Given the description of an element on the screen output the (x, y) to click on. 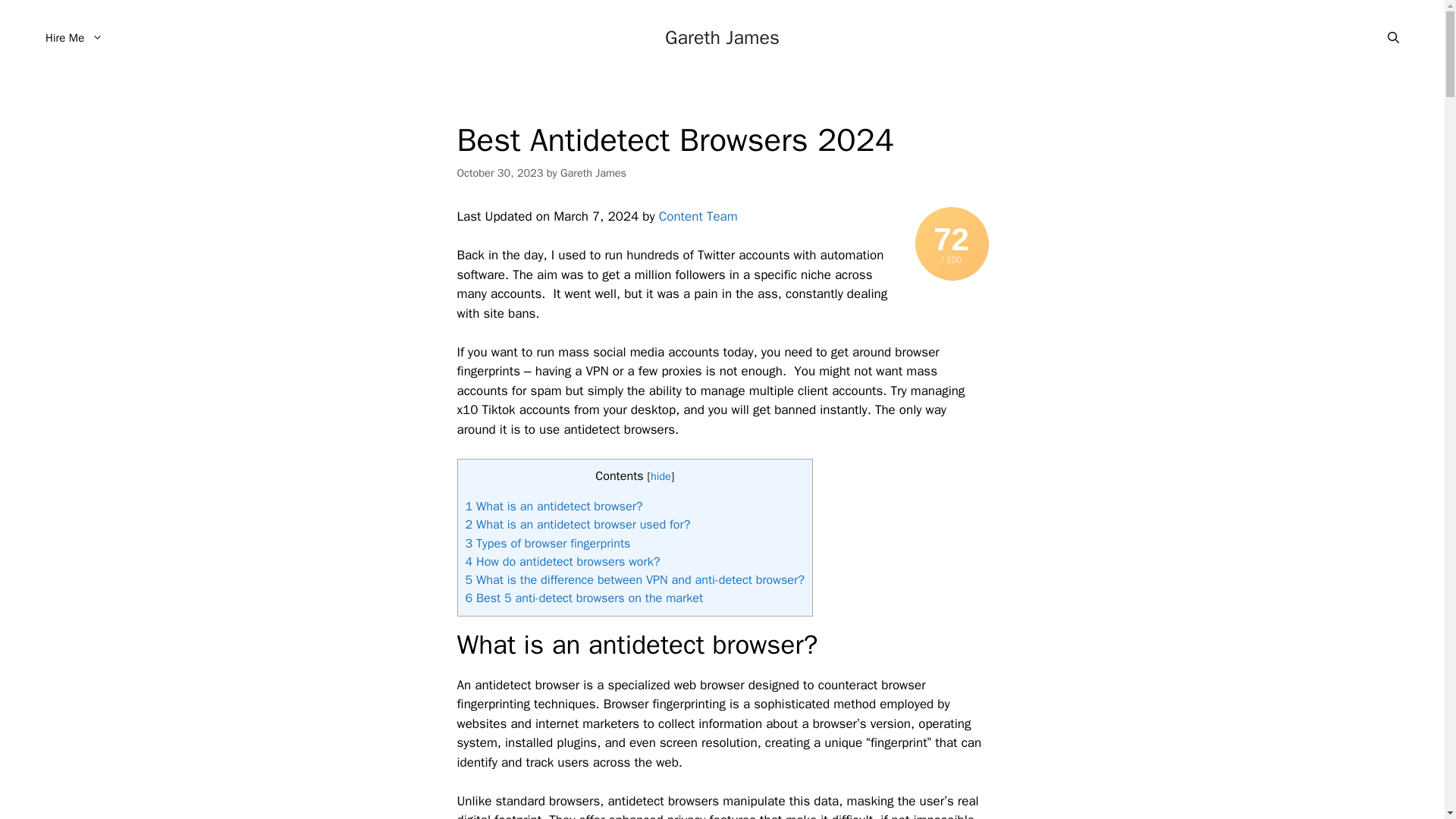
2 What is an antidetect browser used for? (577, 524)
Gareth James (721, 37)
View all posts by Gareth James (593, 172)
3 Types of browser fingerprints (547, 543)
Hire Me (73, 37)
hide (660, 476)
4 How do antidetect browsers work? (563, 561)
6 Best 5 anti-detect browsers on the market (584, 597)
1 What is an antidetect browser? (554, 505)
Content Team (698, 216)
Gareth James (593, 172)
